Given the description of an element on the screen output the (x, y) to click on. 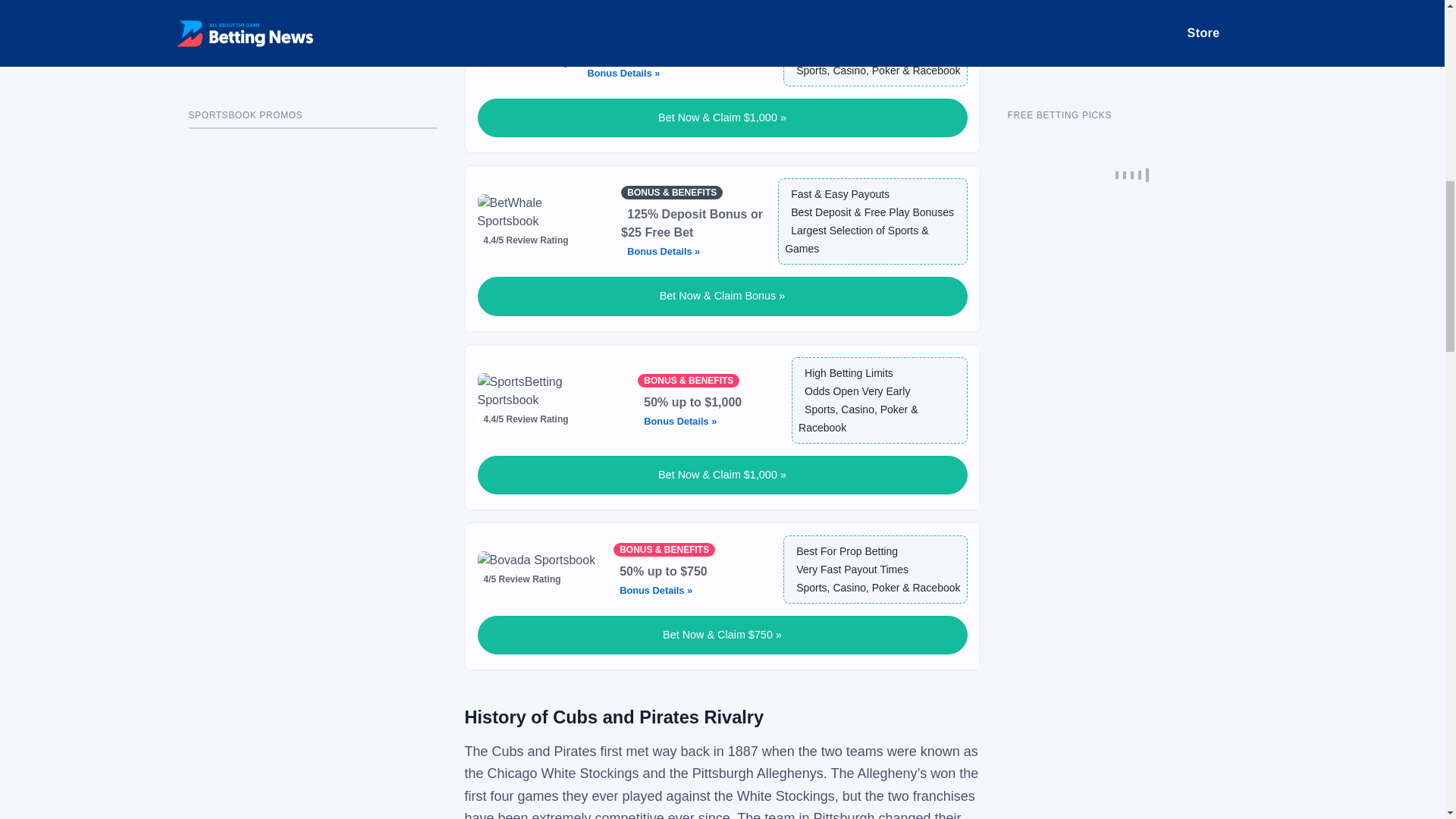
Best For Prop Betting (844, 551)
Watch Live Games (837, 51)
Large Sports Selection (847, 33)
High Betting Limits (845, 372)
Odds Open Very Early (853, 390)
Very Fast Payout Times (849, 569)
